Given the description of an element on the screen output the (x, y) to click on. 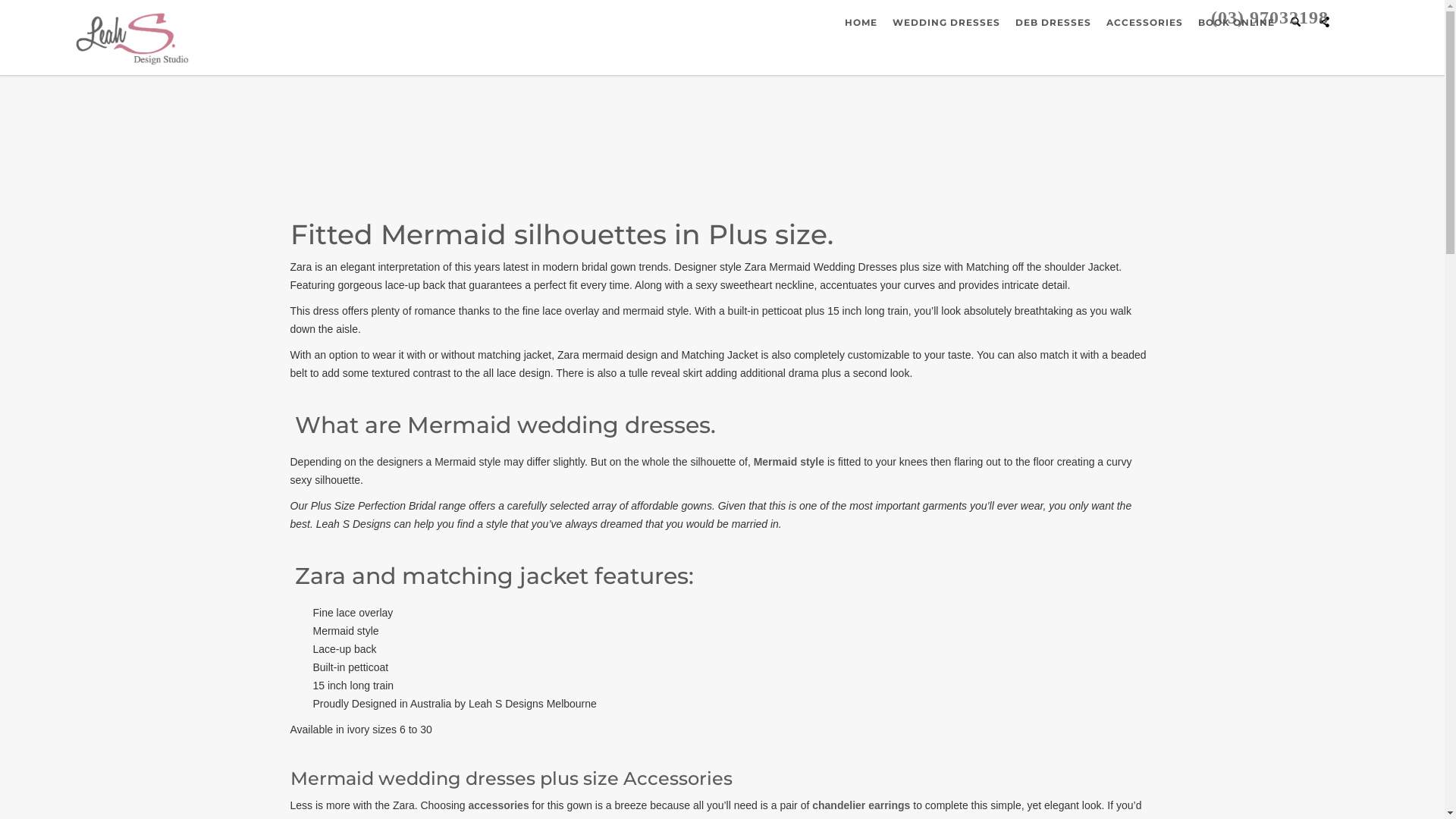
Leah S Designs Element type: hover (132, 37)
Wedding Dresses Element type: hover (132, 39)
HOME Element type: text (860, 22)
DEB DRESSES Element type: text (1053, 22)
BOOK ONLINE Element type: text (1236, 22)
WEDDING DRESSES Element type: text (946, 22)
accessories Element type: text (498, 805)
(03) 97032198 Element type: text (1269, 17)
ACCESSORIES Element type: text (1144, 22)
chandelier earrings Element type: text (861, 805)
Mermaid style Element type: text (788, 461)
